Given the description of an element on the screen output the (x, y) to click on. 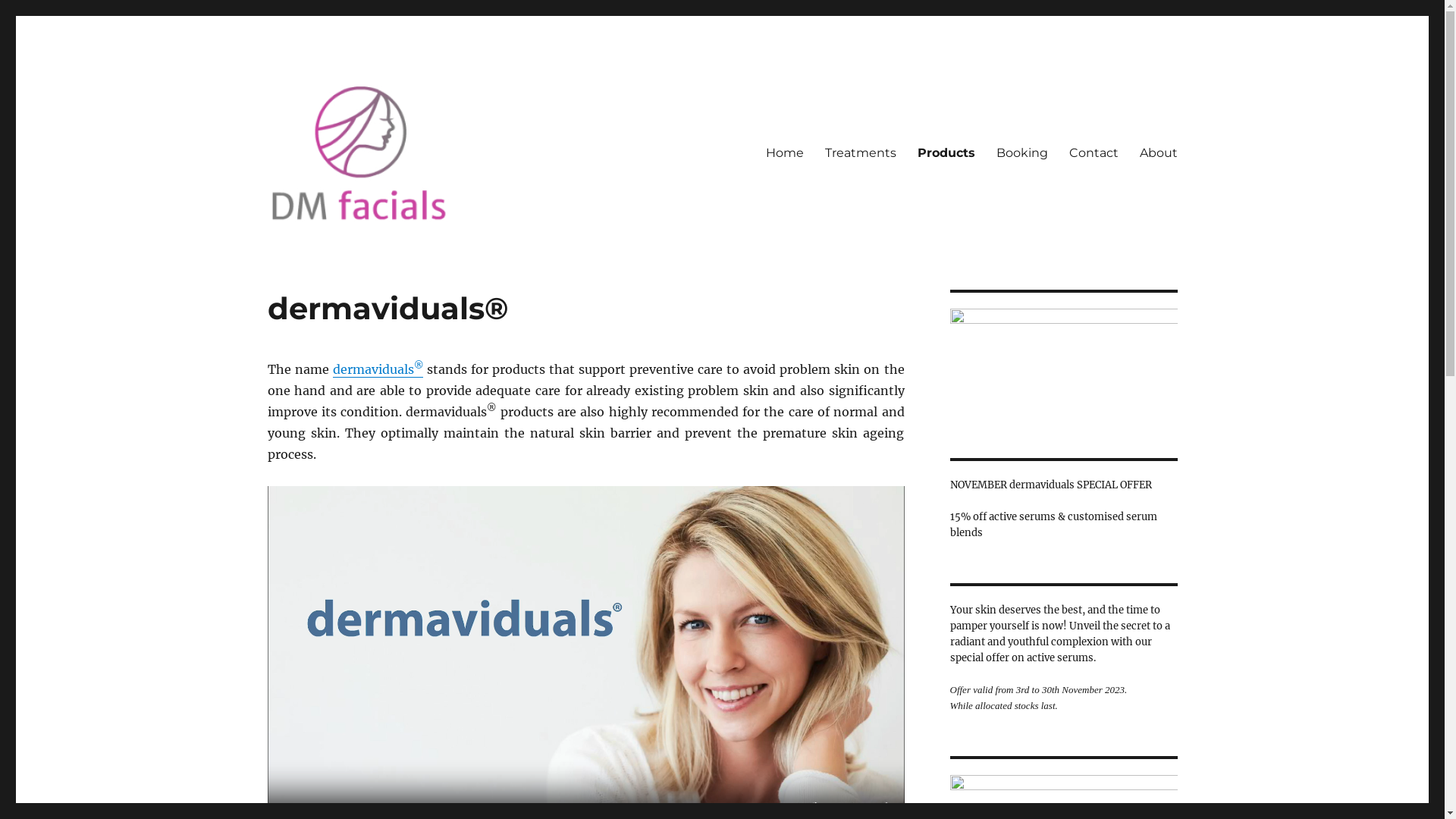
Home Element type: text (784, 152)
Products Element type: text (945, 152)
Contact Element type: text (1093, 152)
DM facials Element type: text (323, 249)
Booking Element type: text (1021, 152)
Treatments Element type: text (860, 152)
About Element type: text (1157, 152)
